Given the description of an element on the screen output the (x, y) to click on. 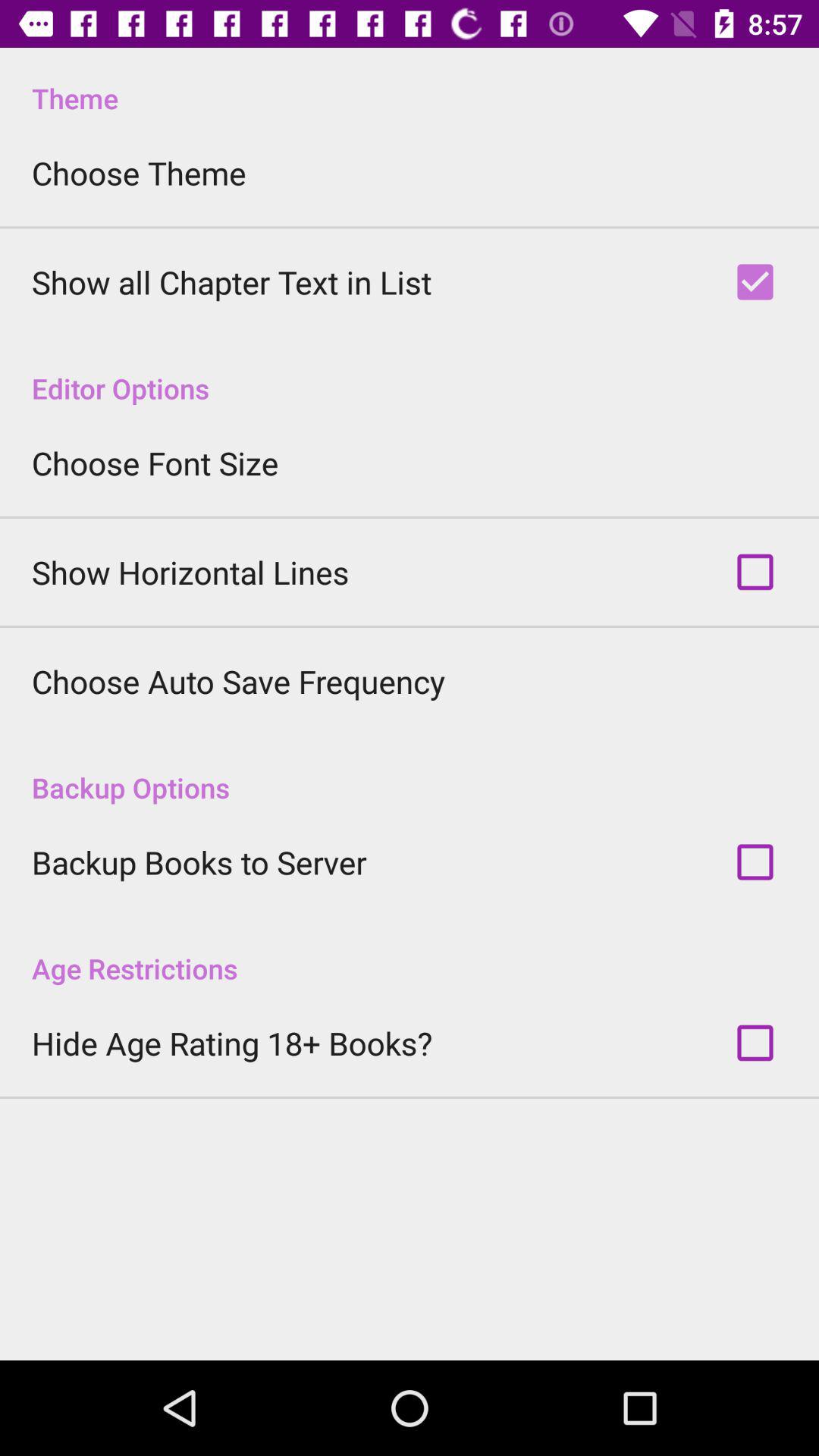
select choose auto save icon (238, 680)
